Given the description of an element on the screen output the (x, y) to click on. 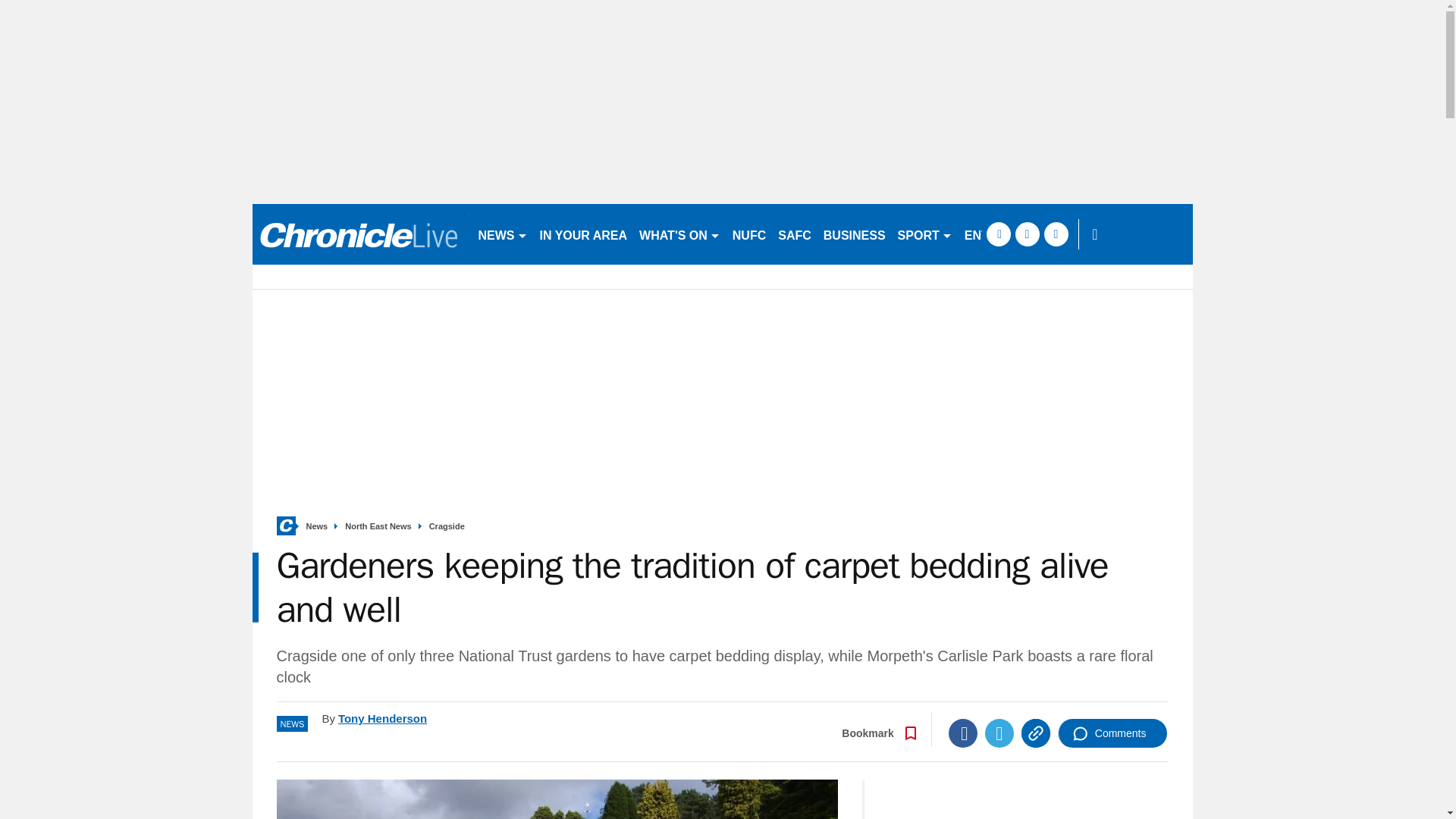
twitter (1026, 233)
SPORT (924, 233)
IN YOUR AREA (583, 233)
BUSINESS (853, 233)
facebook (997, 233)
instagram (1055, 233)
nechronicle (357, 233)
WHAT'S ON (679, 233)
Twitter (999, 733)
NEWS (501, 233)
Facebook (962, 733)
Comments (1112, 733)
